Given the description of an element on the screen output the (x, y) to click on. 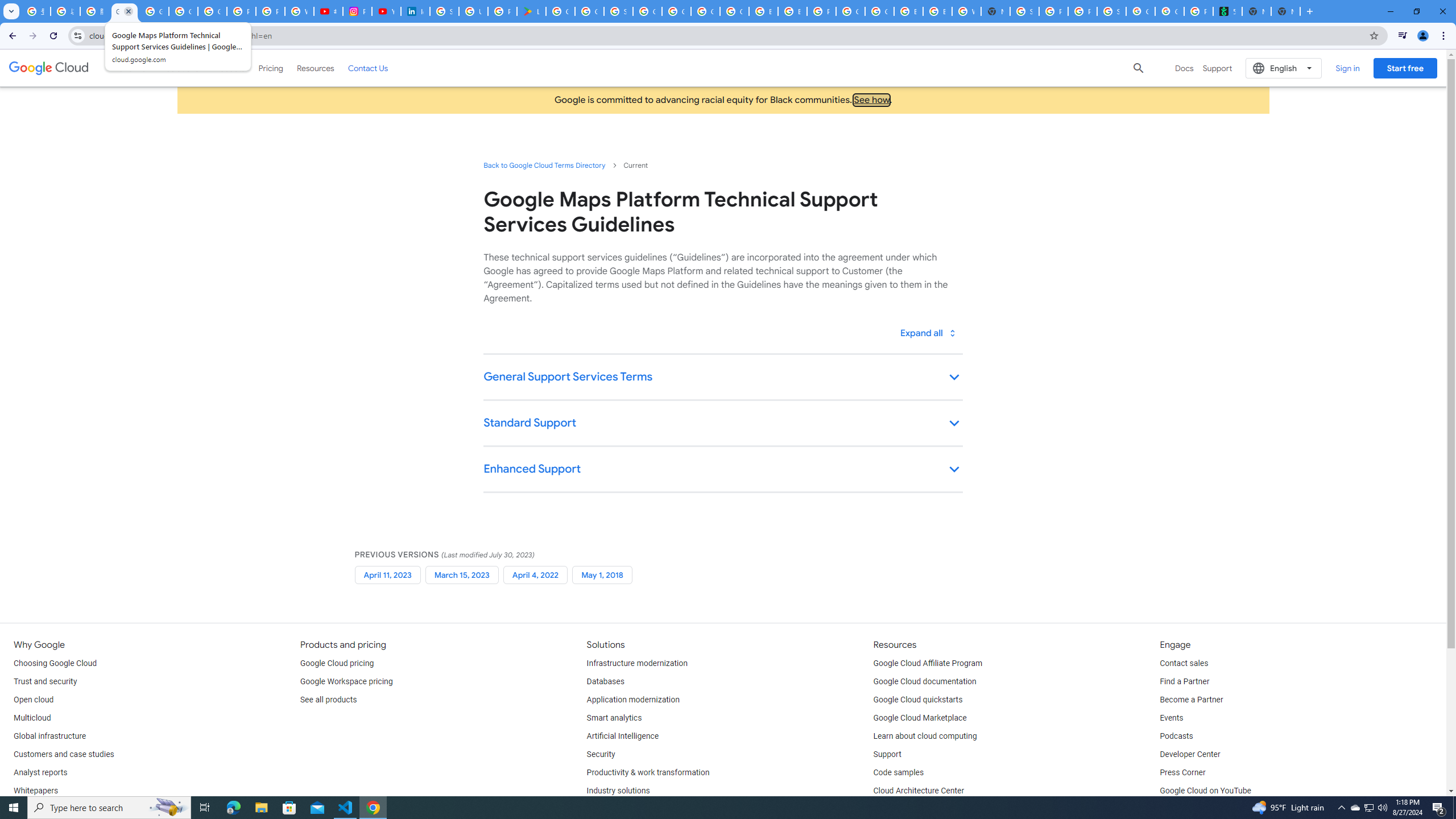
Industry solutions (617, 791)
Press Corner (1181, 773)
Google Cloud Marketplace (919, 718)
Resources (314, 67)
Databases (605, 682)
See how (871, 99)
Productivity & work transformation (648, 773)
Privacy Help Center - Policies Help (269, 11)
Cloud Architecture Center (918, 791)
